Given the description of an element on the screen output the (x, y) to click on. 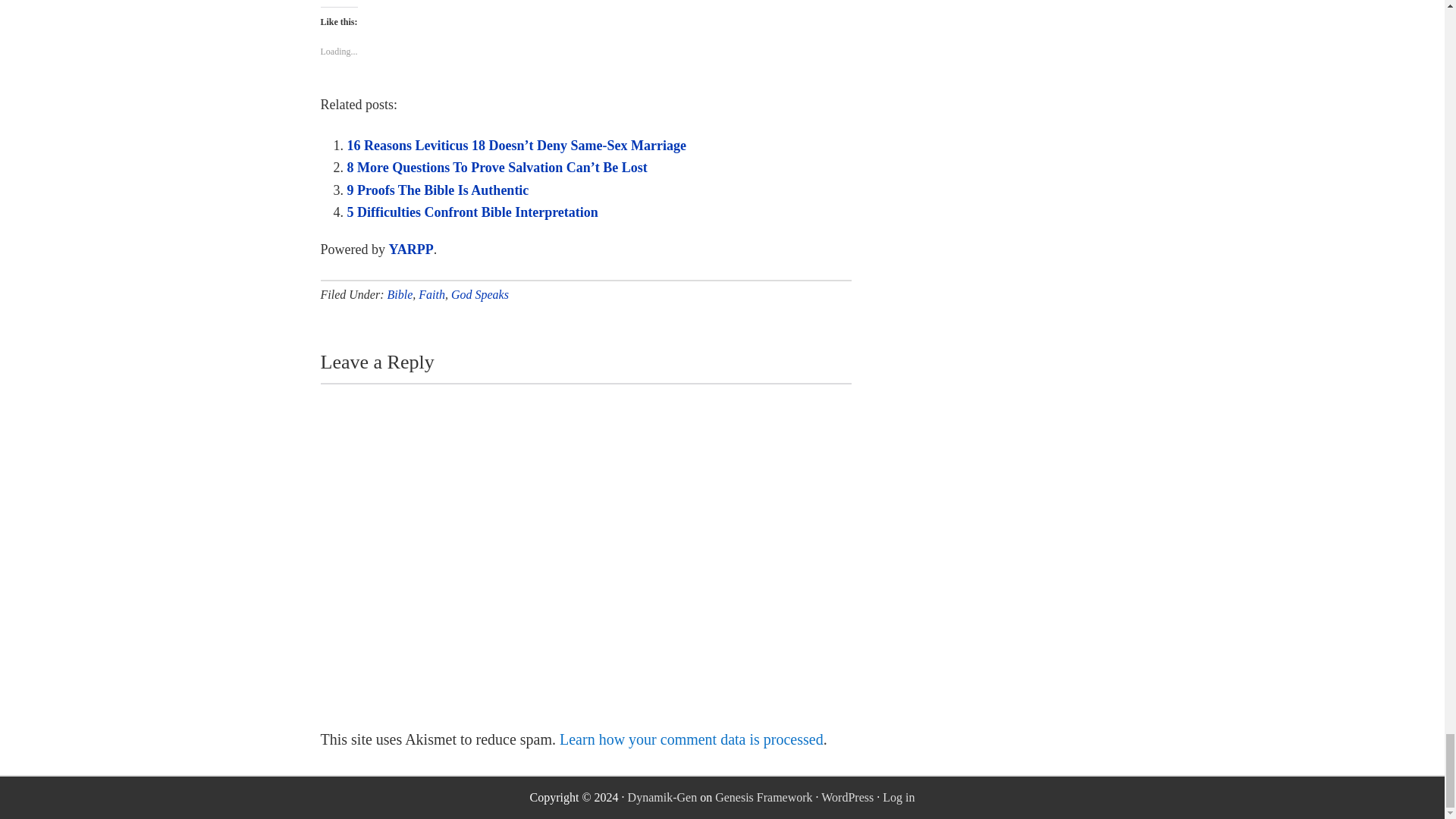
YARPP (410, 249)
9 Proofs The Bible Is Authentic (438, 190)
Dynamik-Gen (662, 797)
WordPress Related Posts (410, 249)
9 Proofs The Bible Is Authentic (438, 190)
Learn how your comment data is processed (691, 739)
Genesis Framework (763, 797)
Log in (898, 797)
God Speaks (479, 294)
